Given the description of an element on the screen output the (x, y) to click on. 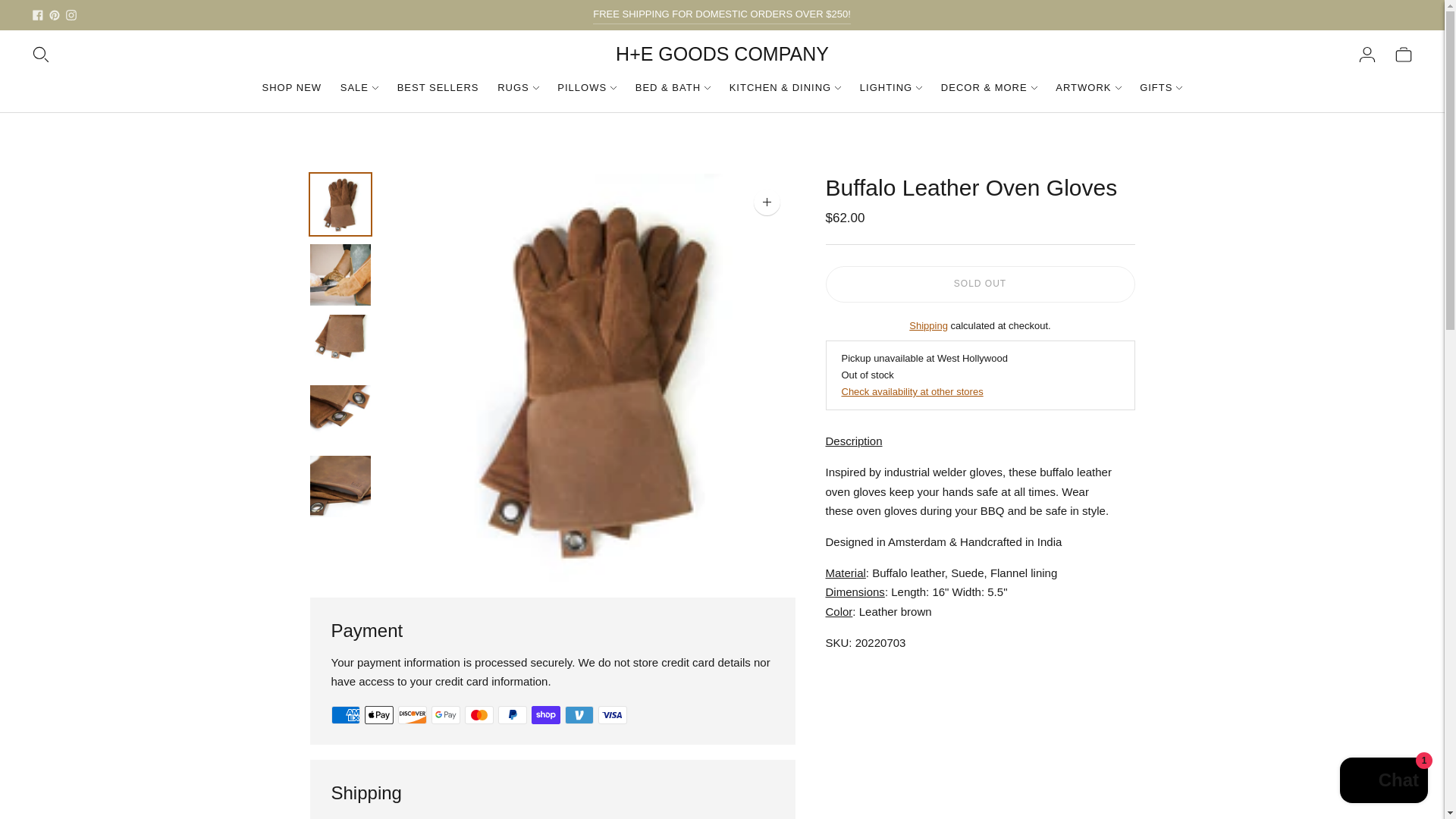
Shopify online store chat (1383, 781)
